Given the description of an element on the screen output the (x, y) to click on. 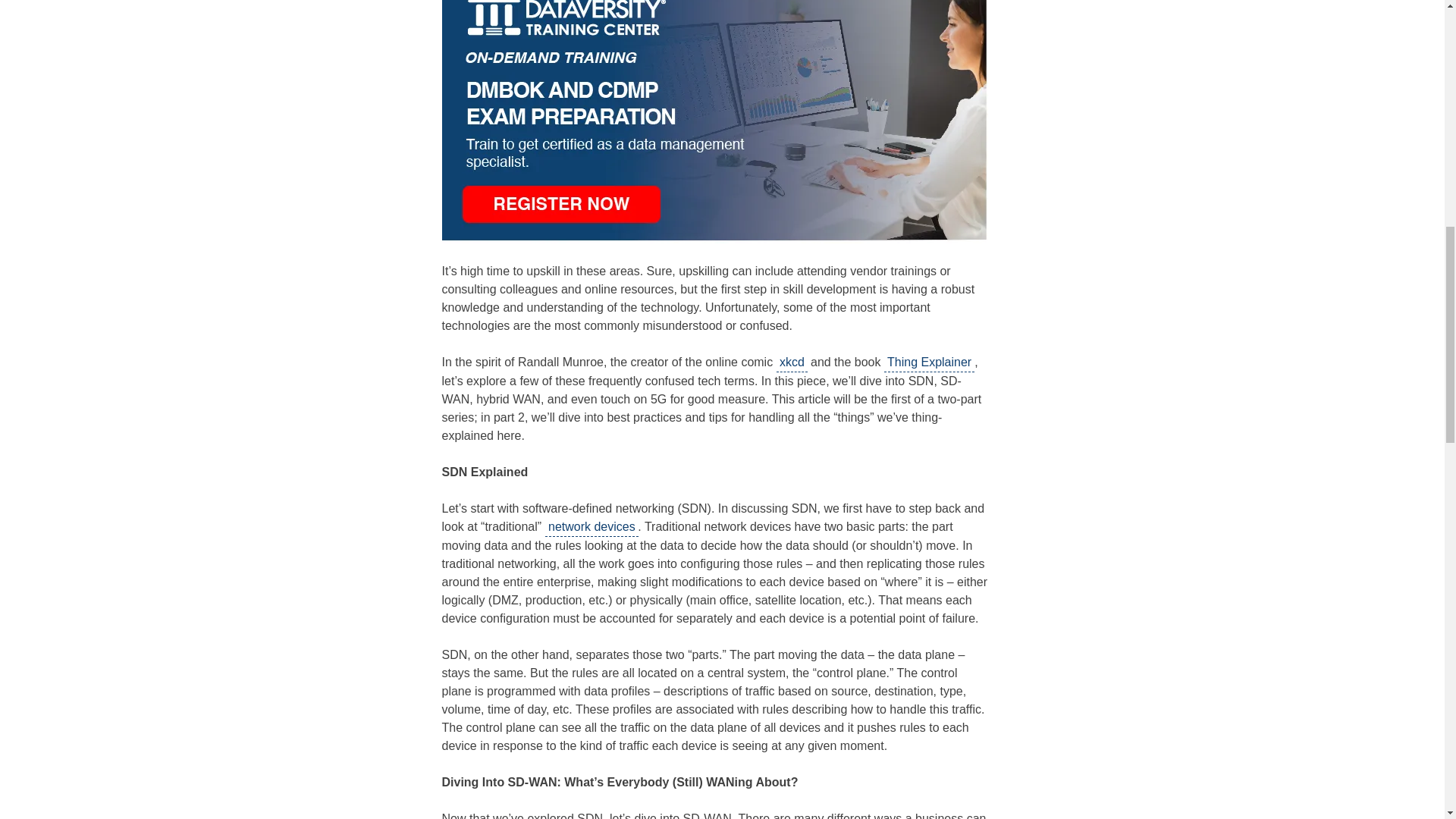
Thing Explainer (928, 362)
xkcd (792, 362)
network devices (591, 527)
